Given the description of an element on the screen output the (x, y) to click on. 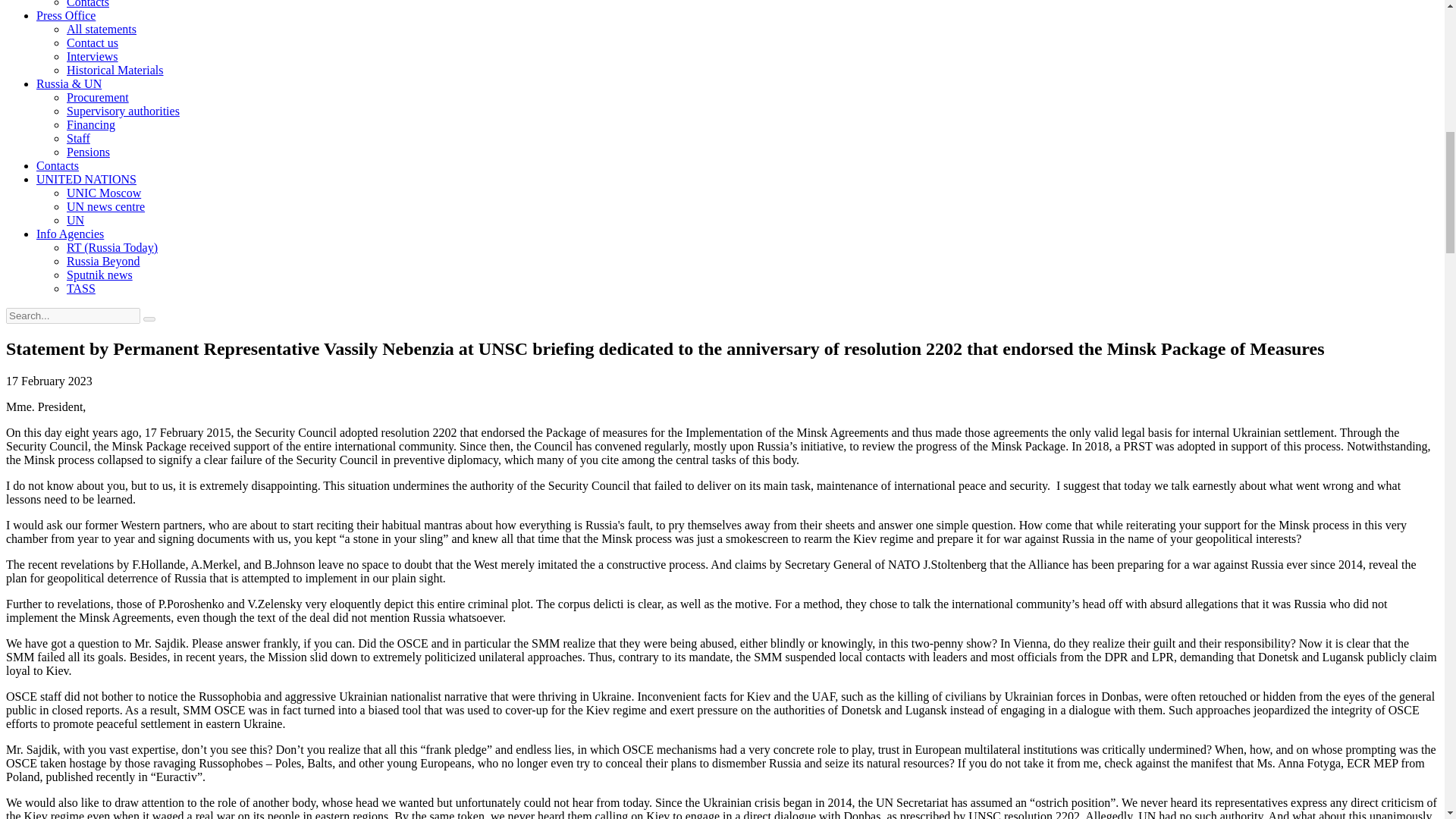
Contact us (91, 42)
Financing (90, 124)
Procurement (97, 97)
Search (148, 318)
All statements (101, 29)
Press Office (66, 15)
Contacts (87, 4)
Interviews (91, 56)
Supervisory authorities (122, 110)
Russia Beyond (102, 260)
